Given the description of an element on the screen output the (x, y) to click on. 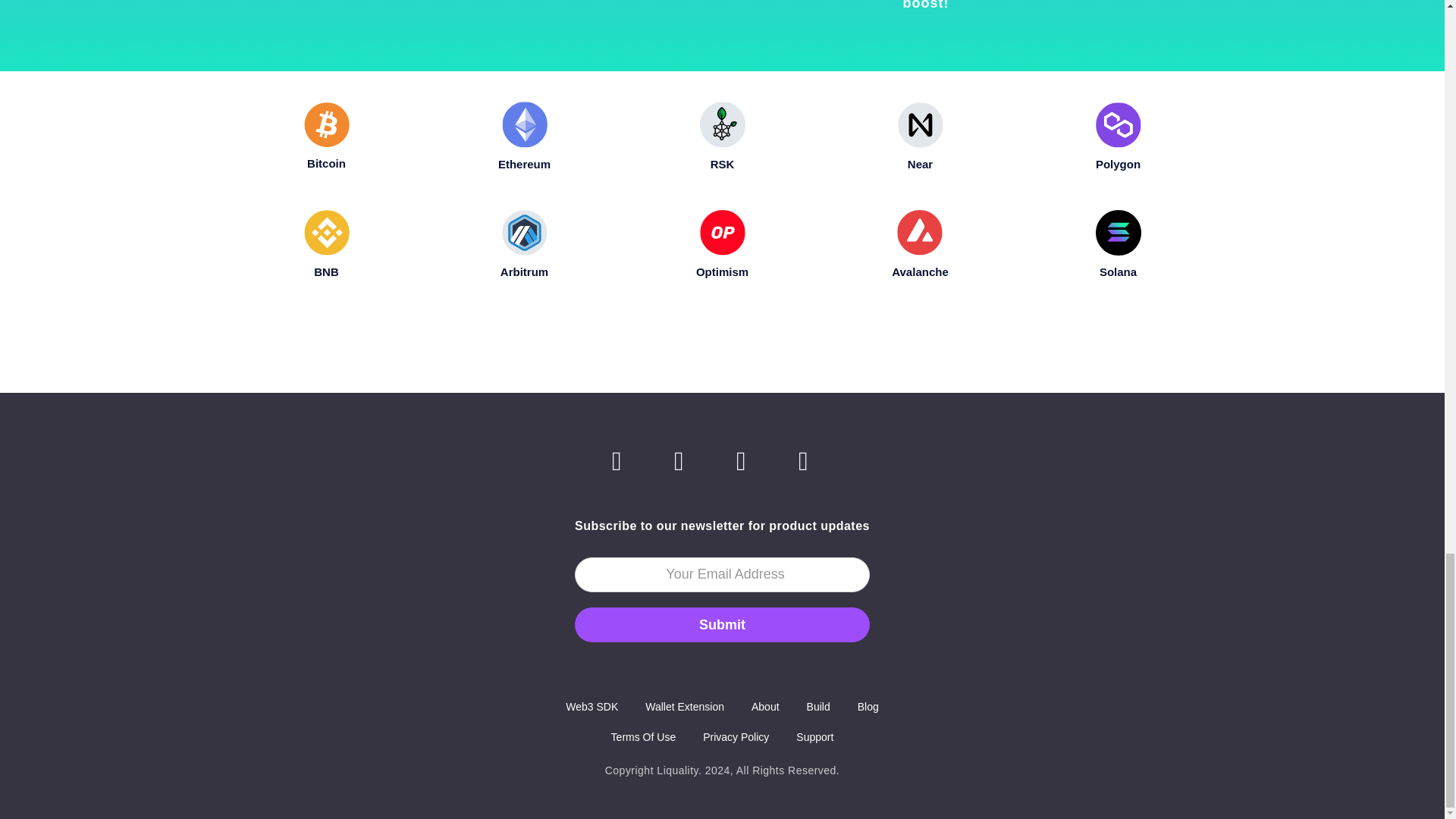
Submit (722, 624)
Submit (721, 7)
